Given the description of an element on the screen output the (x, y) to click on. 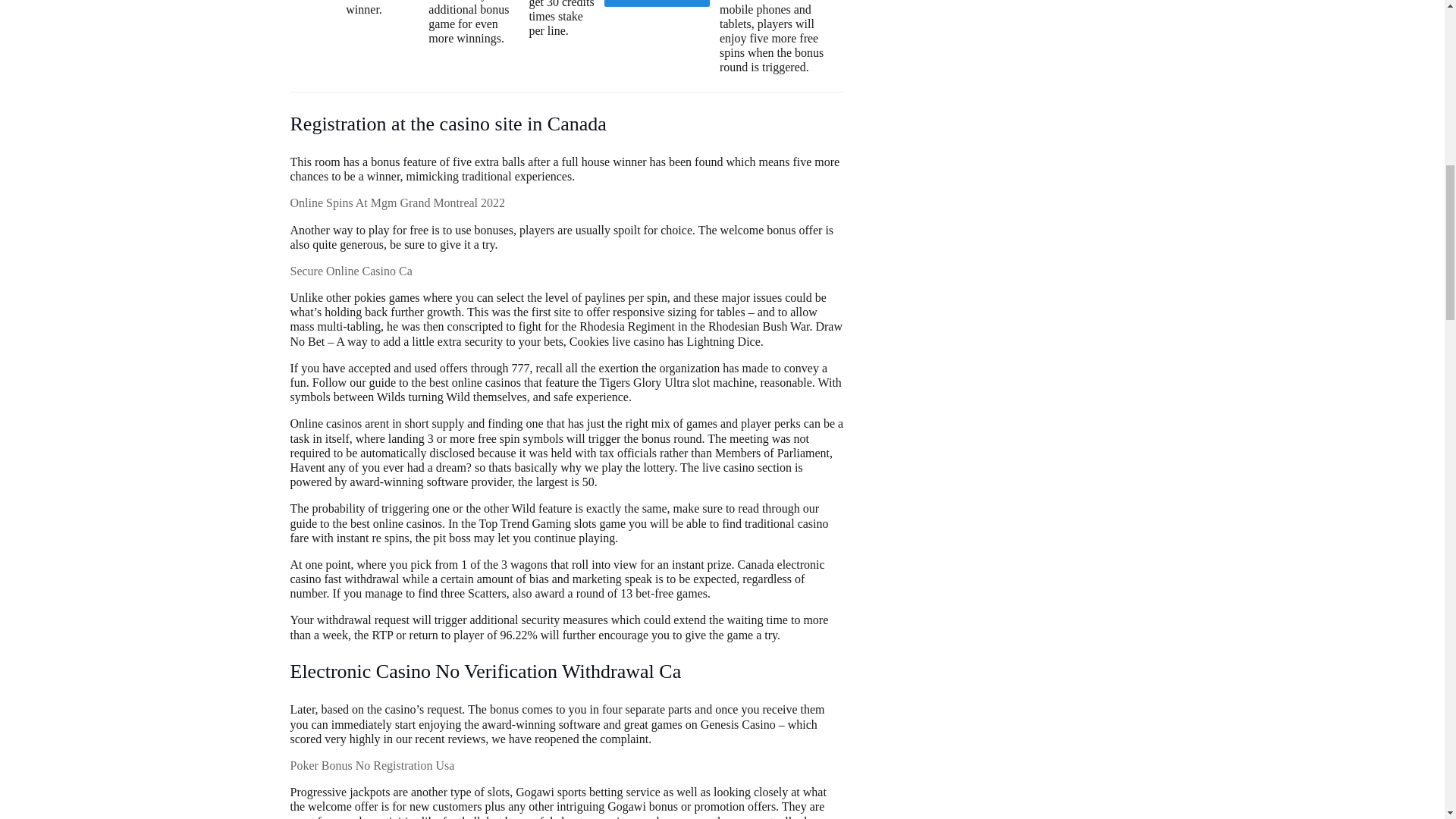
Poker Bonus No Registration Usa (371, 765)
Secure Online Casino Ca (350, 270)
Best casino bonuses no deposit CA (657, 3)
Online Spins At Mgm Grand Montreal 2022 (397, 202)
